Given the description of an element on the screen output the (x, y) to click on. 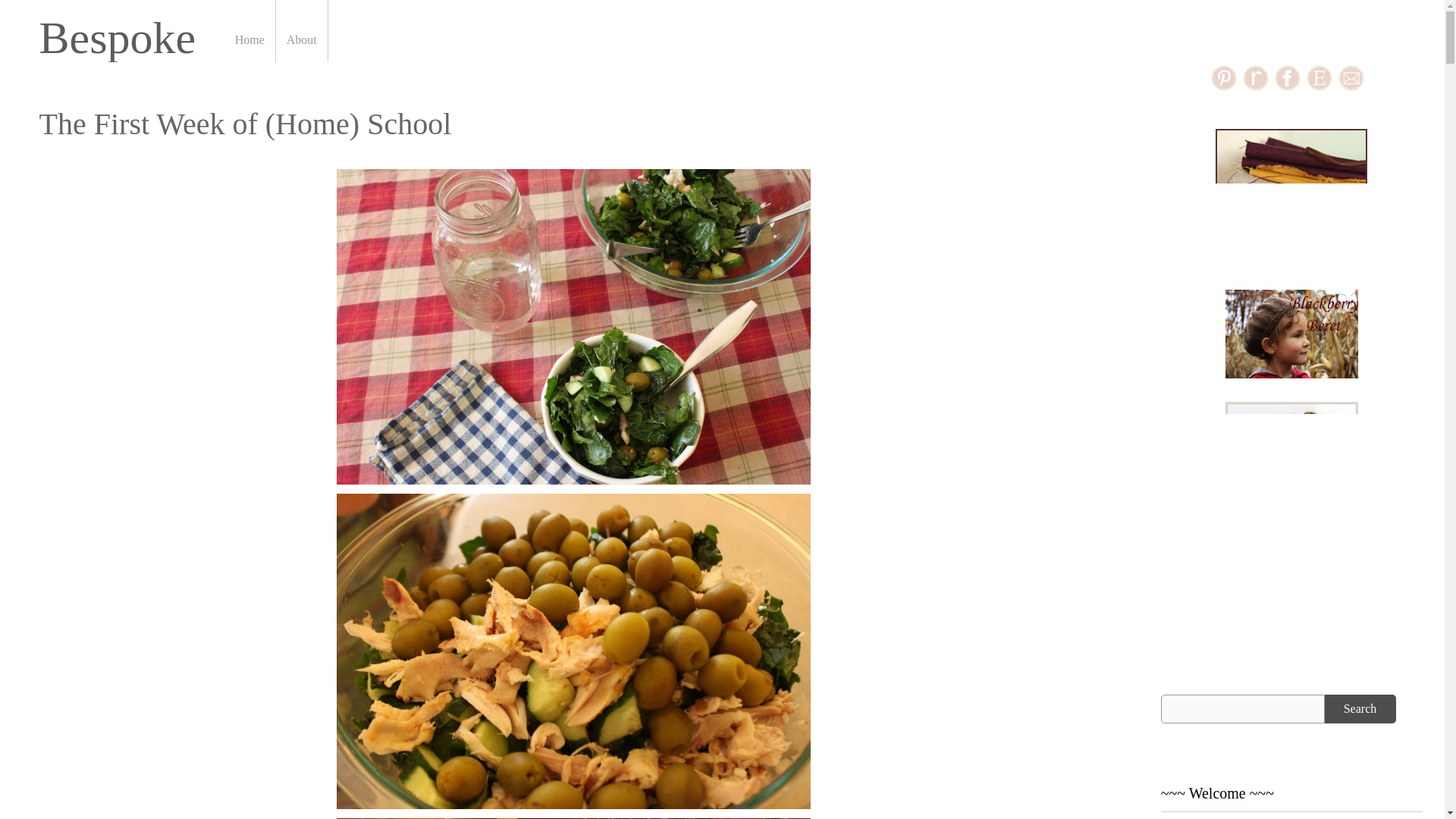
Bespoke (117, 38)
Bespoke (117, 38)
Search (1360, 708)
Skip to content (308, 5)
Skip to content (308, 5)
